Given the description of an element on the screen output the (x, y) to click on. 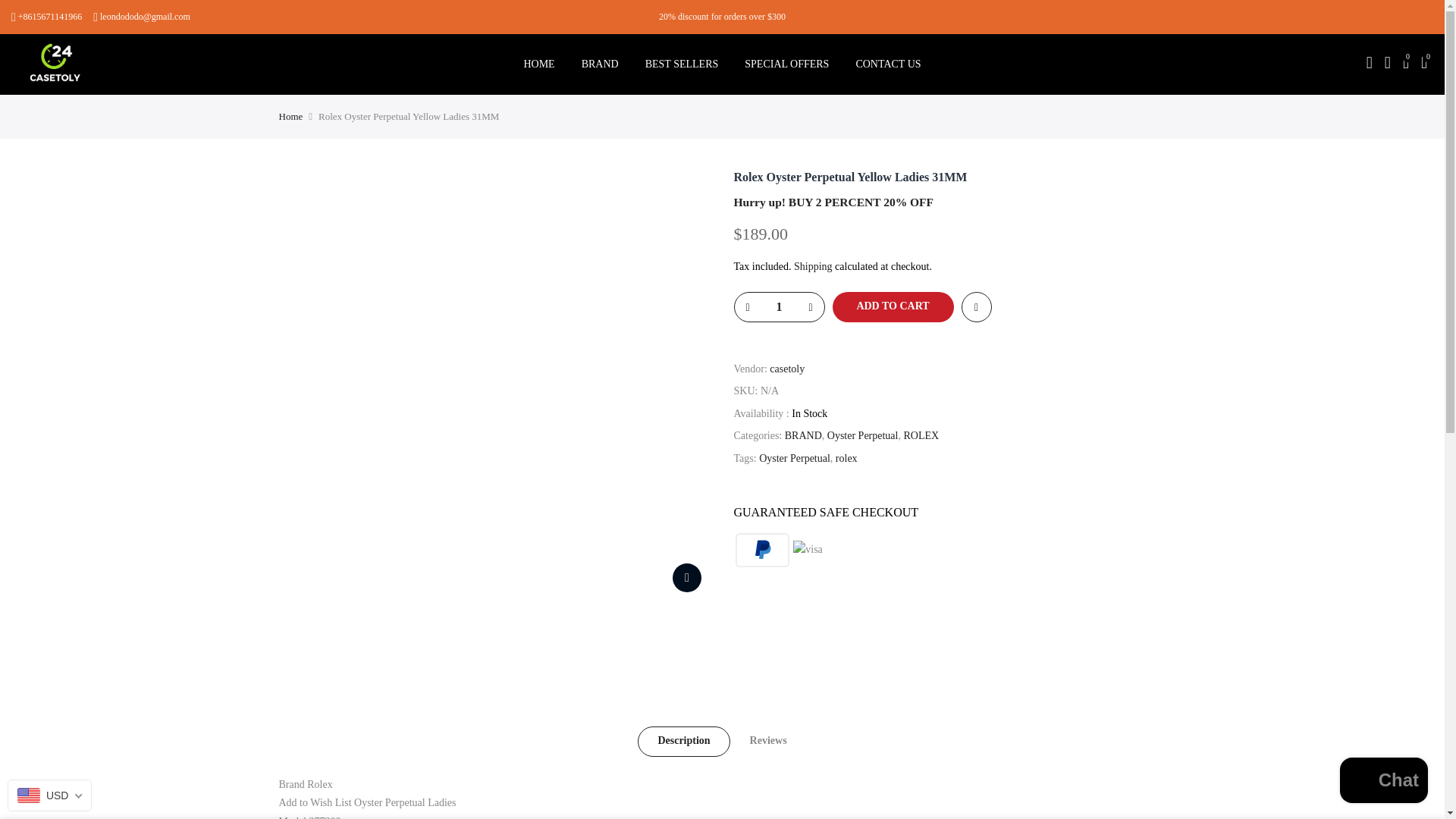
BRAND (599, 64)
HOME (539, 64)
1 (778, 306)
Shopify online store chat (1383, 781)
casetoly (787, 369)
